Given the description of an element on the screen output the (x, y) to click on. 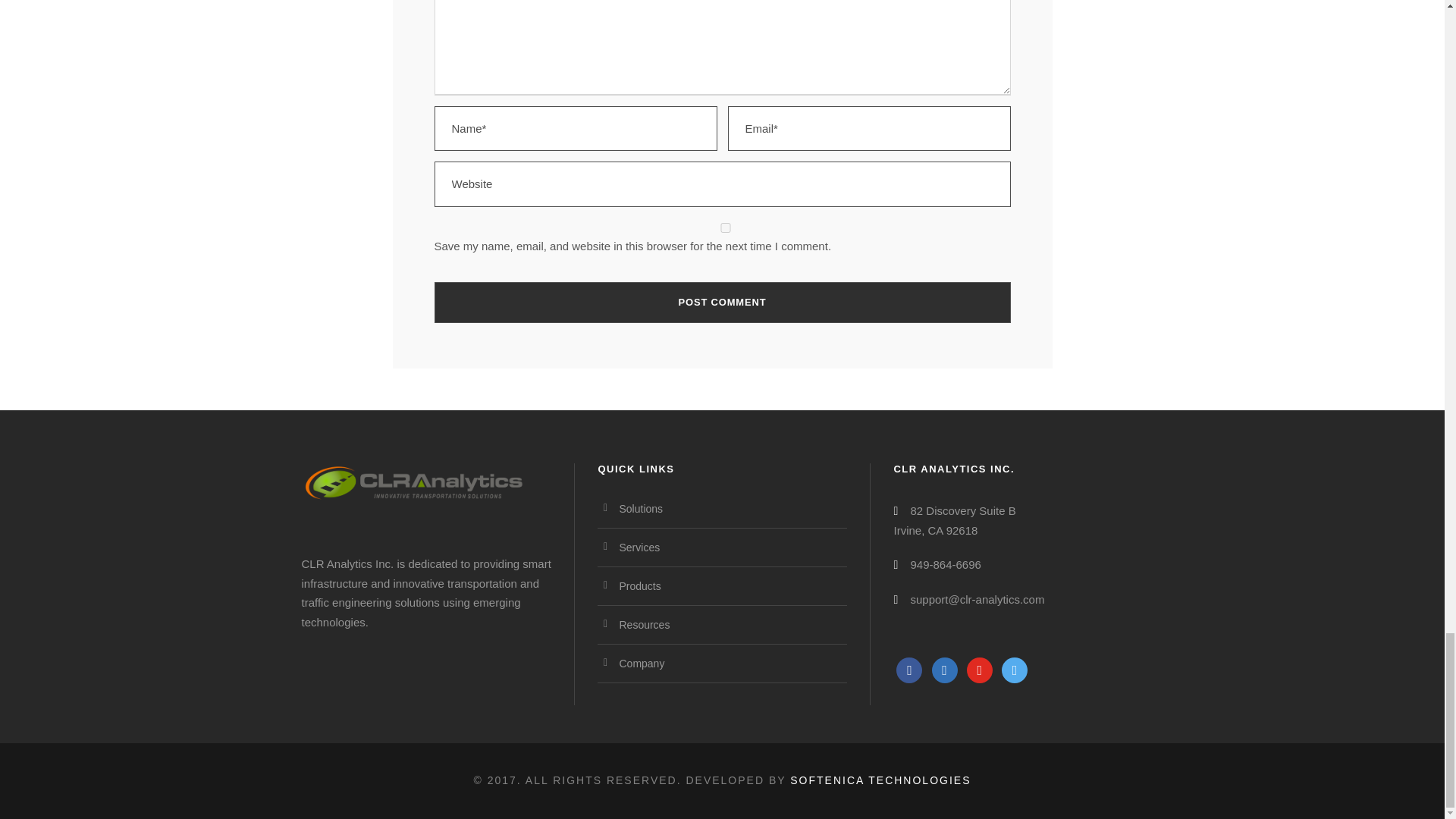
Twitter (944, 668)
Facebook (908, 668)
Default Label (1014, 668)
yes (724, 227)
Post Comment (721, 301)
Default Label (979, 668)
